Given the description of an element on the screen output the (x, y) to click on. 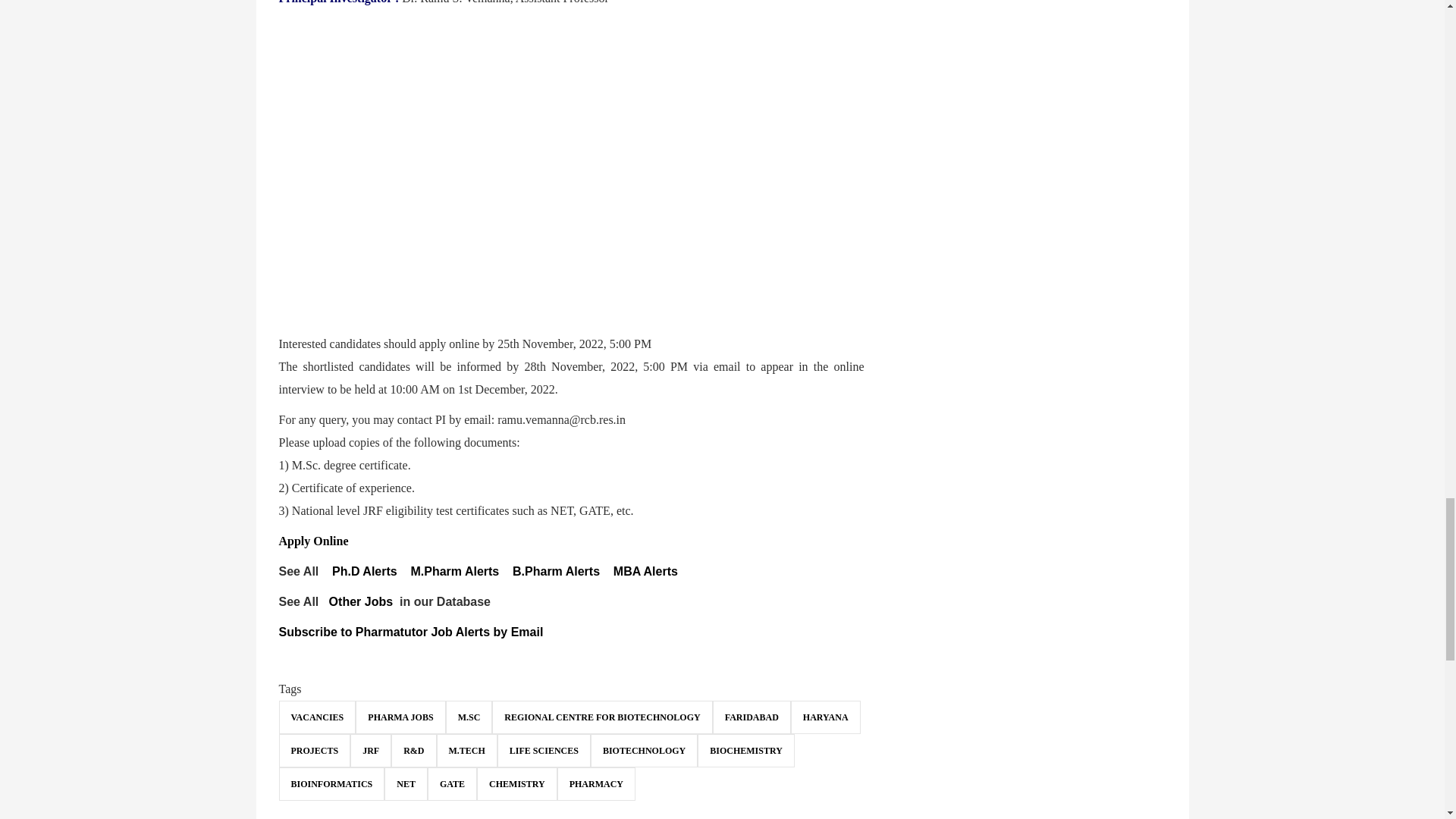
Advertisement (571, 266)
